Given the description of an element on the screen output the (x, y) to click on. 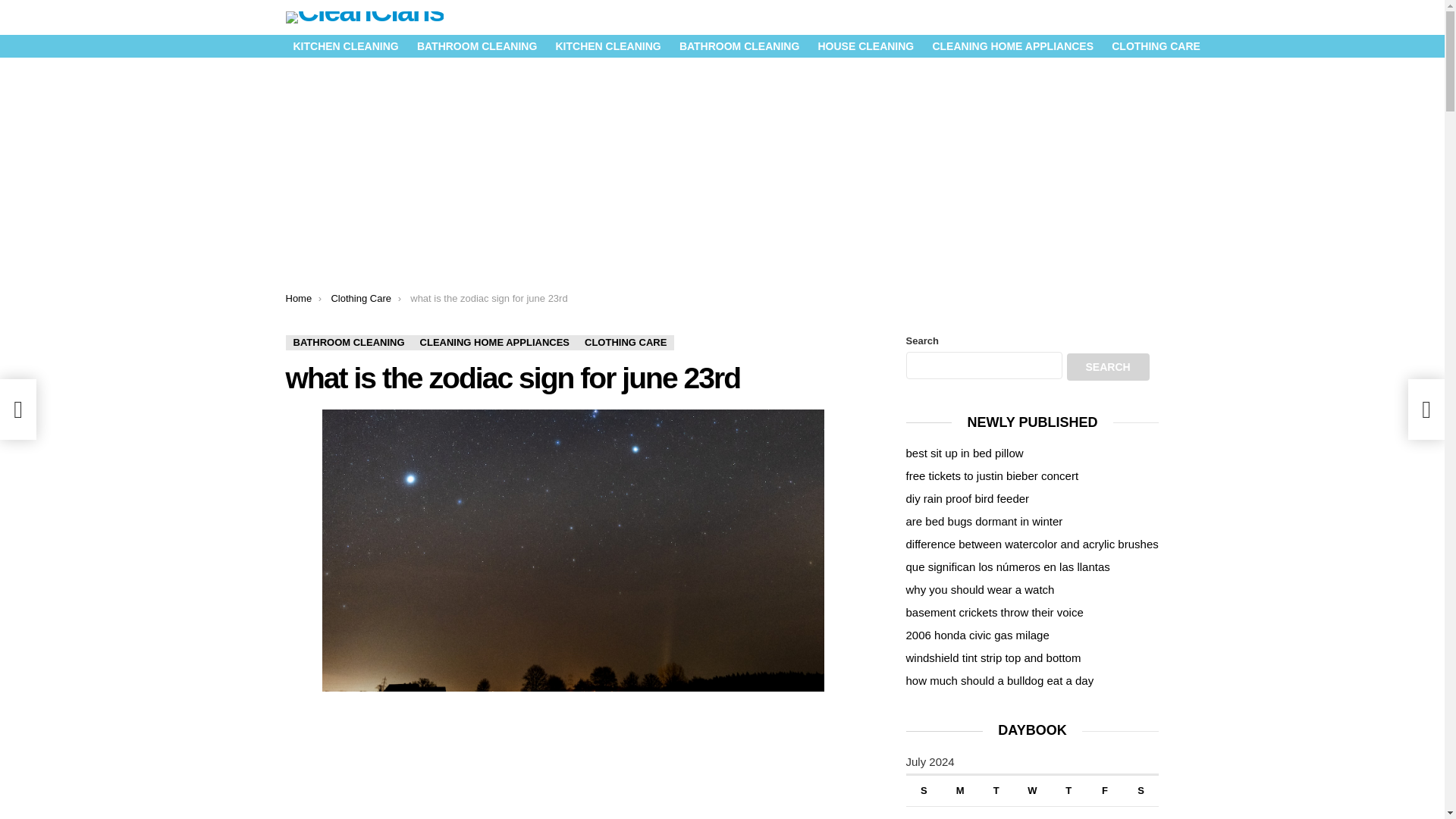
BATHROOM CLEANING (738, 46)
BATHROOM CLEANING (476, 46)
BATHROOM CLEANING (348, 342)
CLOTHING CARE (1155, 46)
KITCHEN CLEANING (607, 46)
KITCHEN CLEANING (345, 46)
CLEANING HOME APPLIANCES (494, 342)
HOUSE CLEANING (865, 46)
CLEANING HOME APPLIANCES (1012, 46)
CLOTHING CARE (625, 342)
Home (298, 297)
Clothing Care (360, 297)
